Given the description of an element on the screen output the (x, y) to click on. 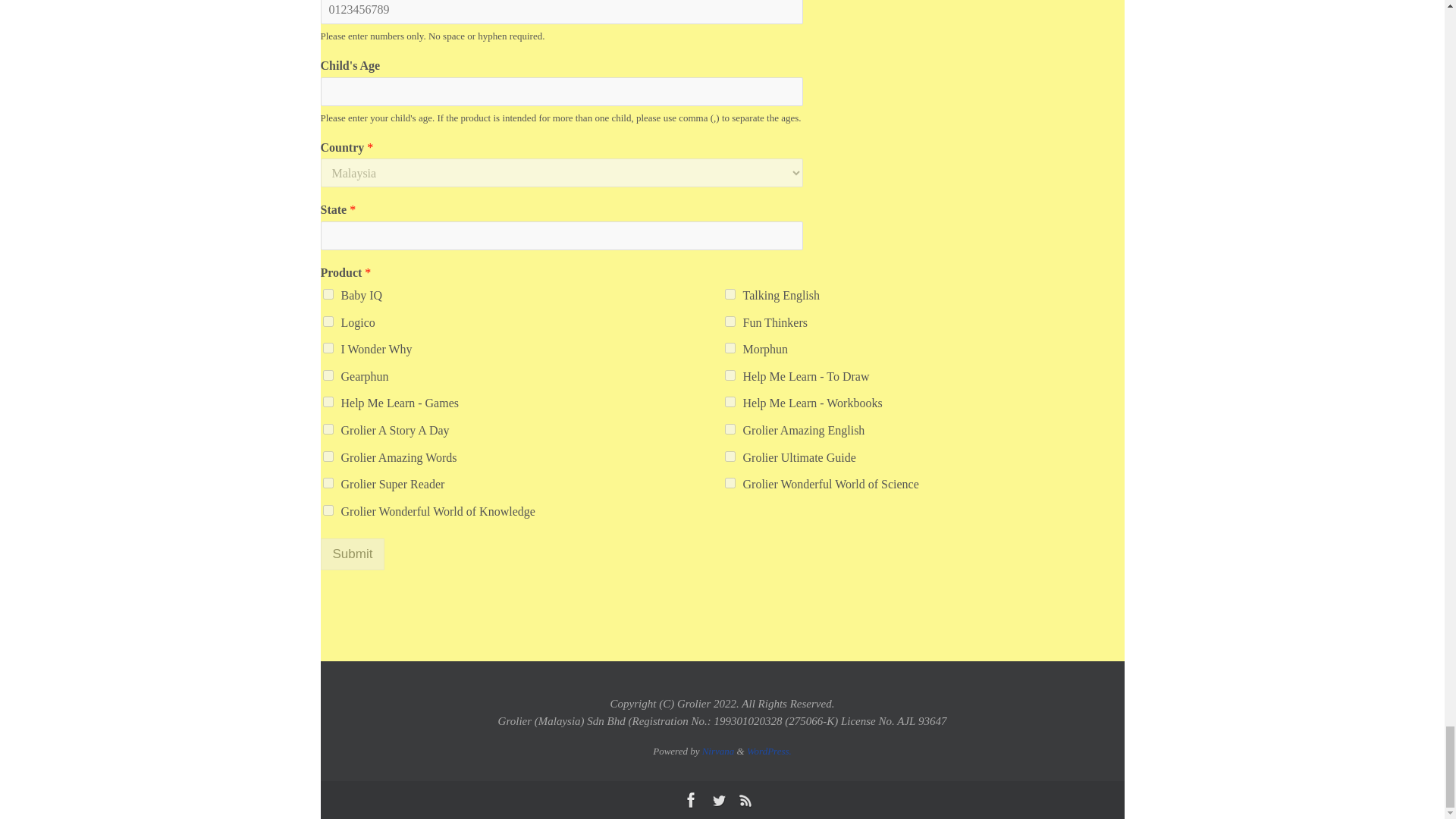
I Wonder Why (328, 347)
Grolier Ultimate Guide (730, 456)
RSS (745, 799)
Semantic Personal Publishing Platform (769, 750)
Fun Thinkers (730, 321)
WordPress. (769, 750)
Grolier Asia Twitter (717, 799)
Nirvana (718, 750)
Nirvana Theme by Cryout Creations (718, 750)
Baby IQ (328, 294)
Morphun (730, 347)
Grolier A Story A Day (328, 429)
Grolier Amazing English (730, 429)
Submit (352, 554)
Grolier Amazing Words (328, 456)
